Given the description of an element on the screen output the (x, y) to click on. 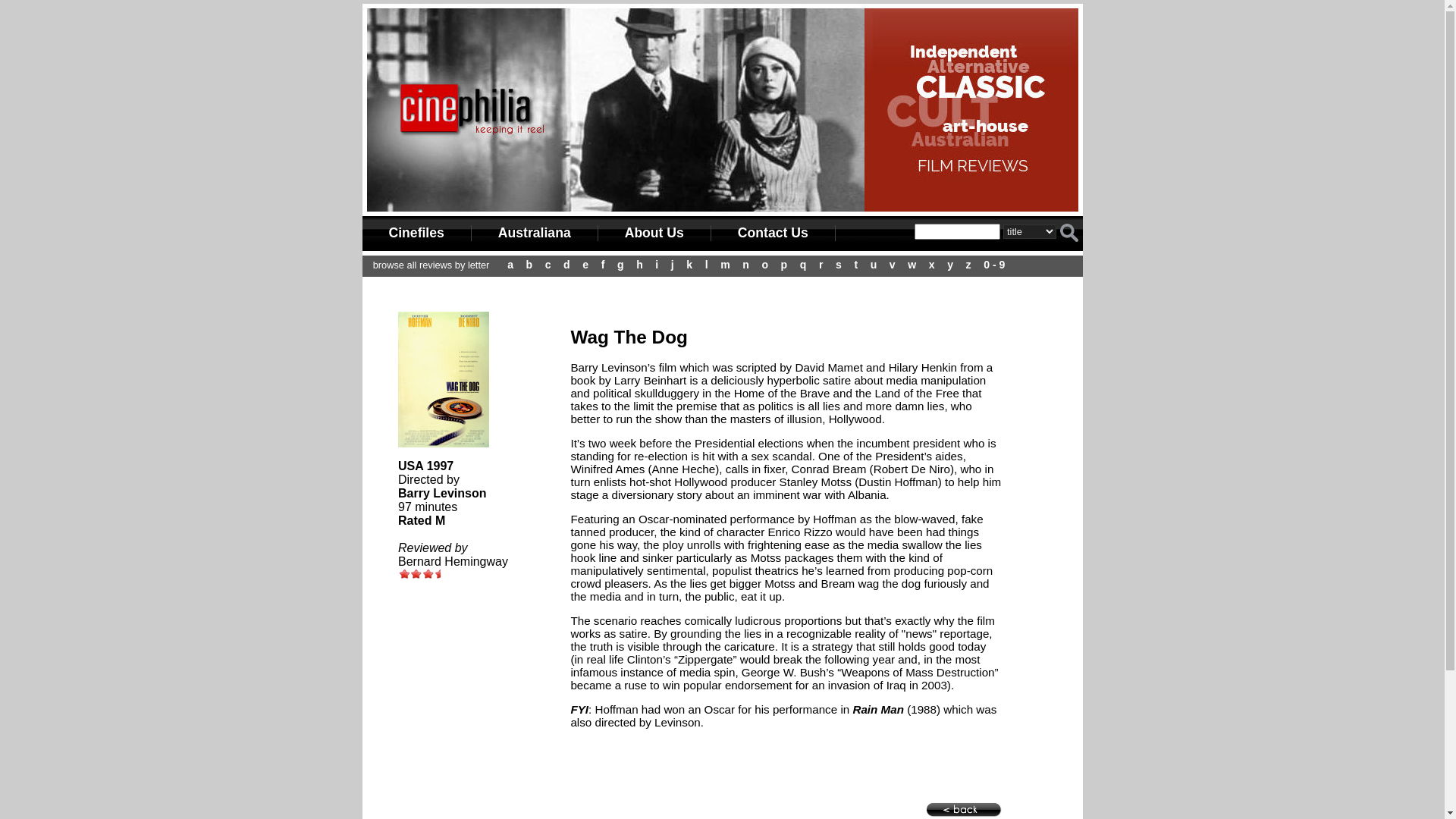
u Element type: text (873, 264)
0 - 9 Element type: text (993, 264)
Contact Us Element type: text (773, 233)
r Element type: text (820, 264)
Cinefiles Element type: text (416, 233)
i Element type: text (656, 264)
Australiana Element type: text (534, 233)
w Element type: text (911, 264)
Rain Man Element type: text (876, 708)
a Element type: text (510, 264)
About Us Element type: text (654, 233)
x Element type: text (931, 264)
l Element type: text (706, 264)
q Element type: text (803, 264)
p Element type: text (784, 264)
c Element type: text (548, 264)
h Element type: text (639, 264)
v Element type: text (892, 264)
k Element type: text (689, 264)
z Element type: text (968, 264)
m Element type: text (725, 264)
n Element type: text (745, 264)
return to previous page Element type: hover (963, 809)
j Element type: text (672, 264)
d Element type: text (566, 264)
g Element type: text (620, 264)
y Element type: text (950, 264)
o Element type: text (764, 264)
b Element type: text (529, 264)
t Element type: text (855, 264)
e Element type: text (585, 264)
f Element type: text (603, 264)
s Element type: text (838, 264)
